Given the description of an element on the screen output the (x, y) to click on. 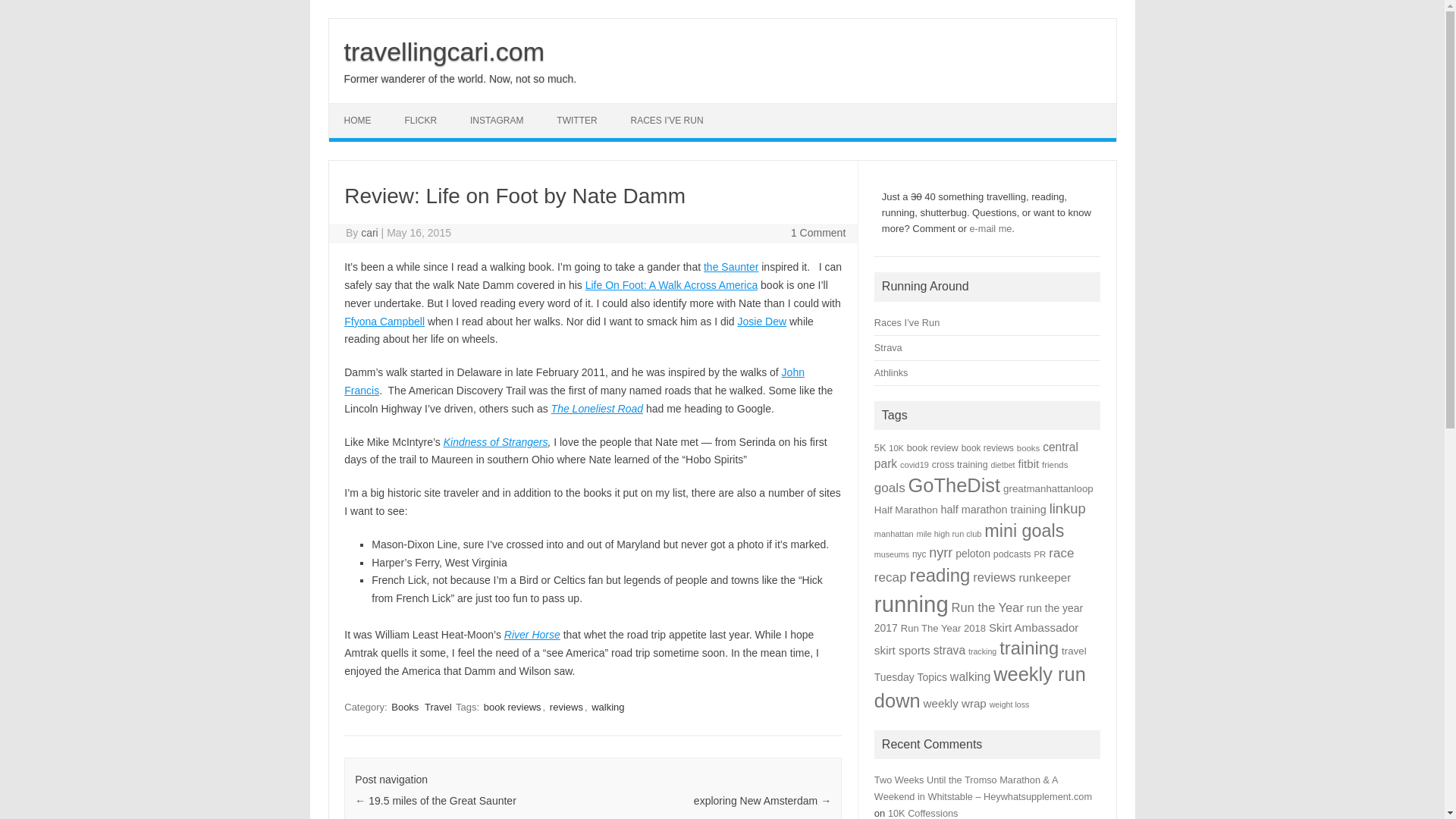
central park (976, 455)
The Loneliest Road (597, 408)
HOME (358, 120)
book reviews (986, 448)
cross training (959, 464)
Athlinks (891, 372)
TWITTER (576, 120)
INSTAGRAM (496, 120)
e-mail me (990, 228)
